Given the description of an element on the screen output the (x, y) to click on. 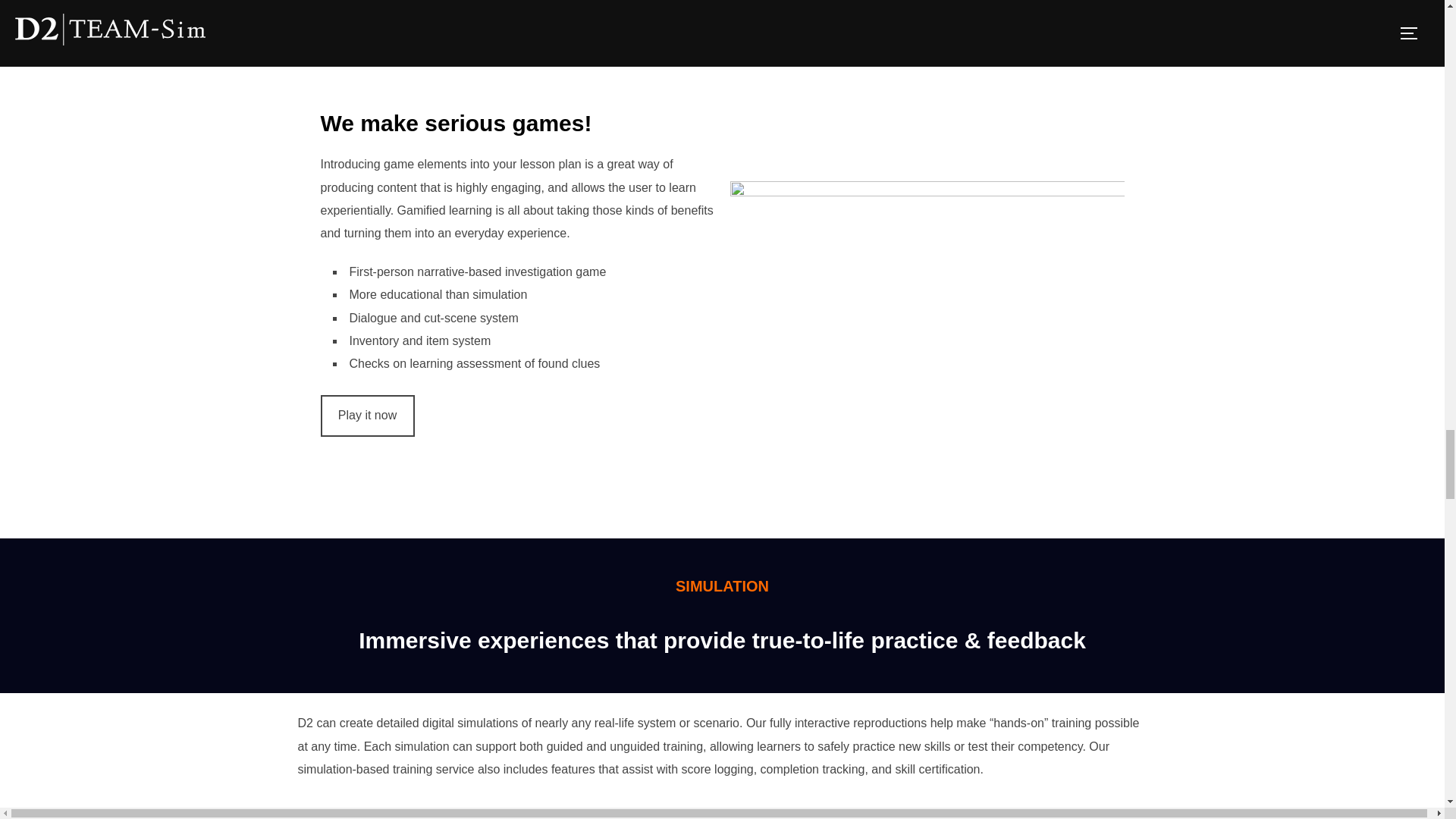
Play it now (366, 415)
